Given the description of an element on the screen output the (x, y) to click on. 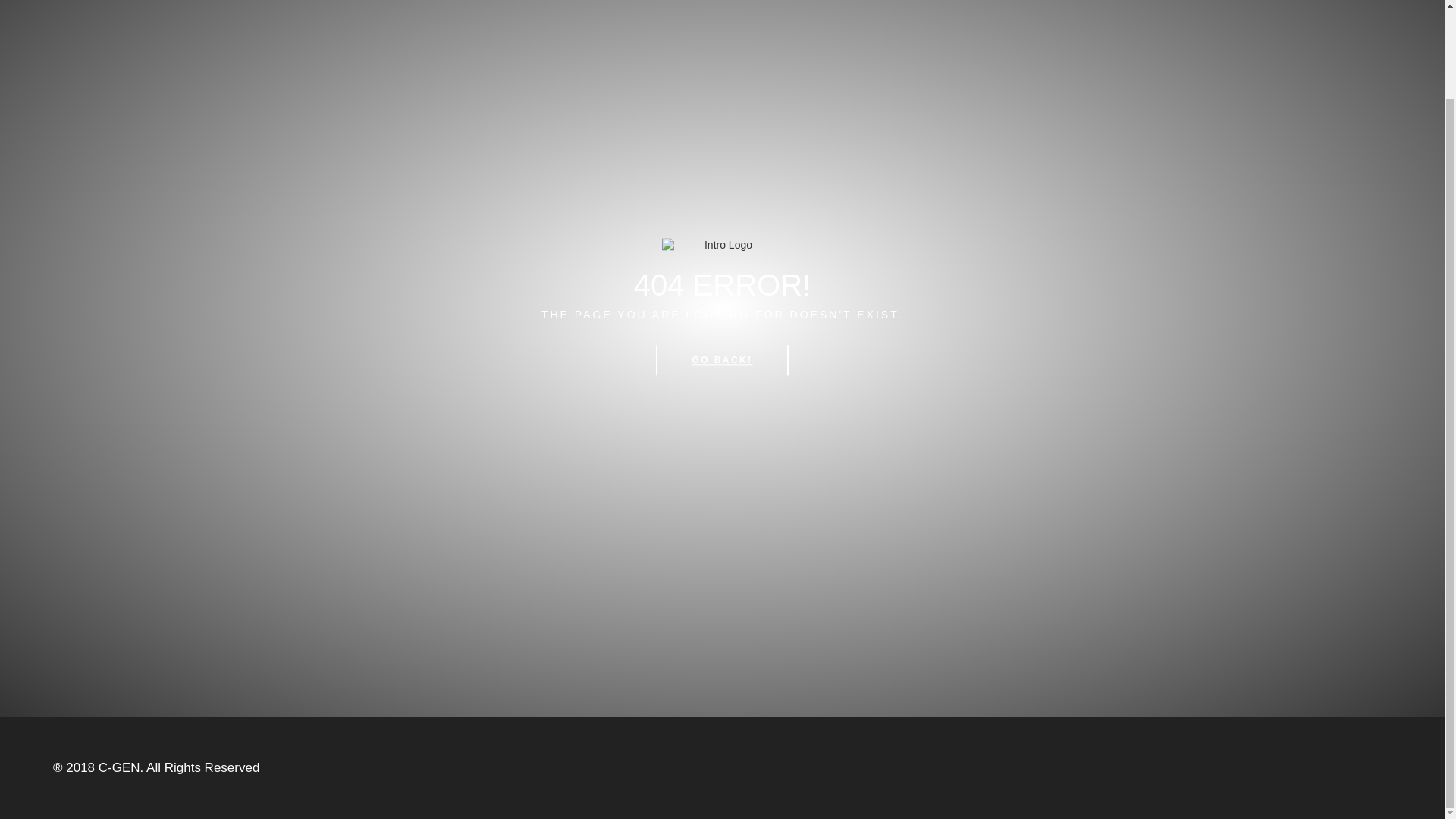
GO BACK! (722, 360)
